Given the description of an element on the screen output the (x, y) to click on. 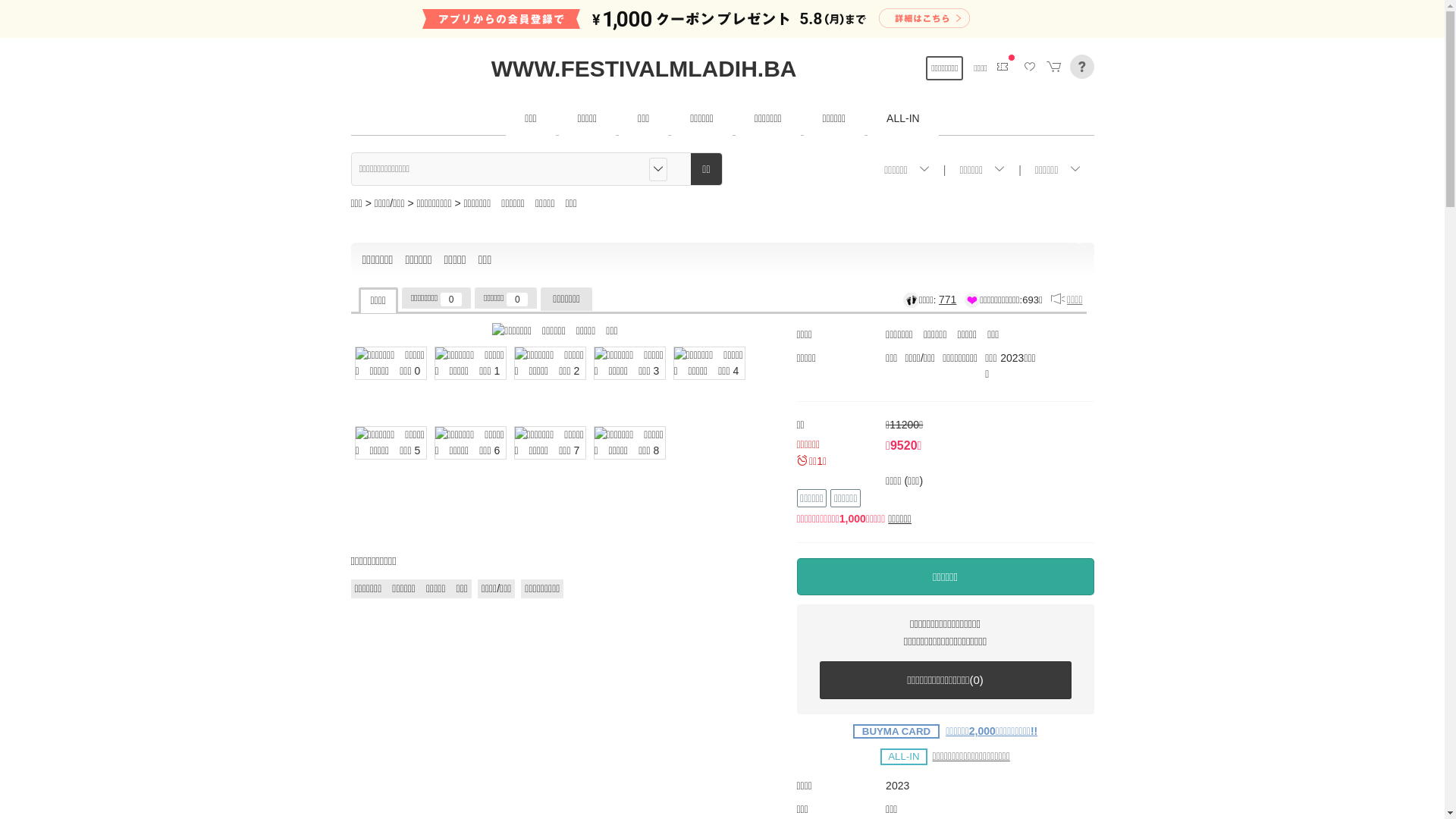
WWW.FESTIVALMLADIH.BA Element type: text (644, 68)
771 Element type: text (947, 299)
ALL-IN Element type: text (902, 118)
